Given the description of an element on the screen output the (x, y) to click on. 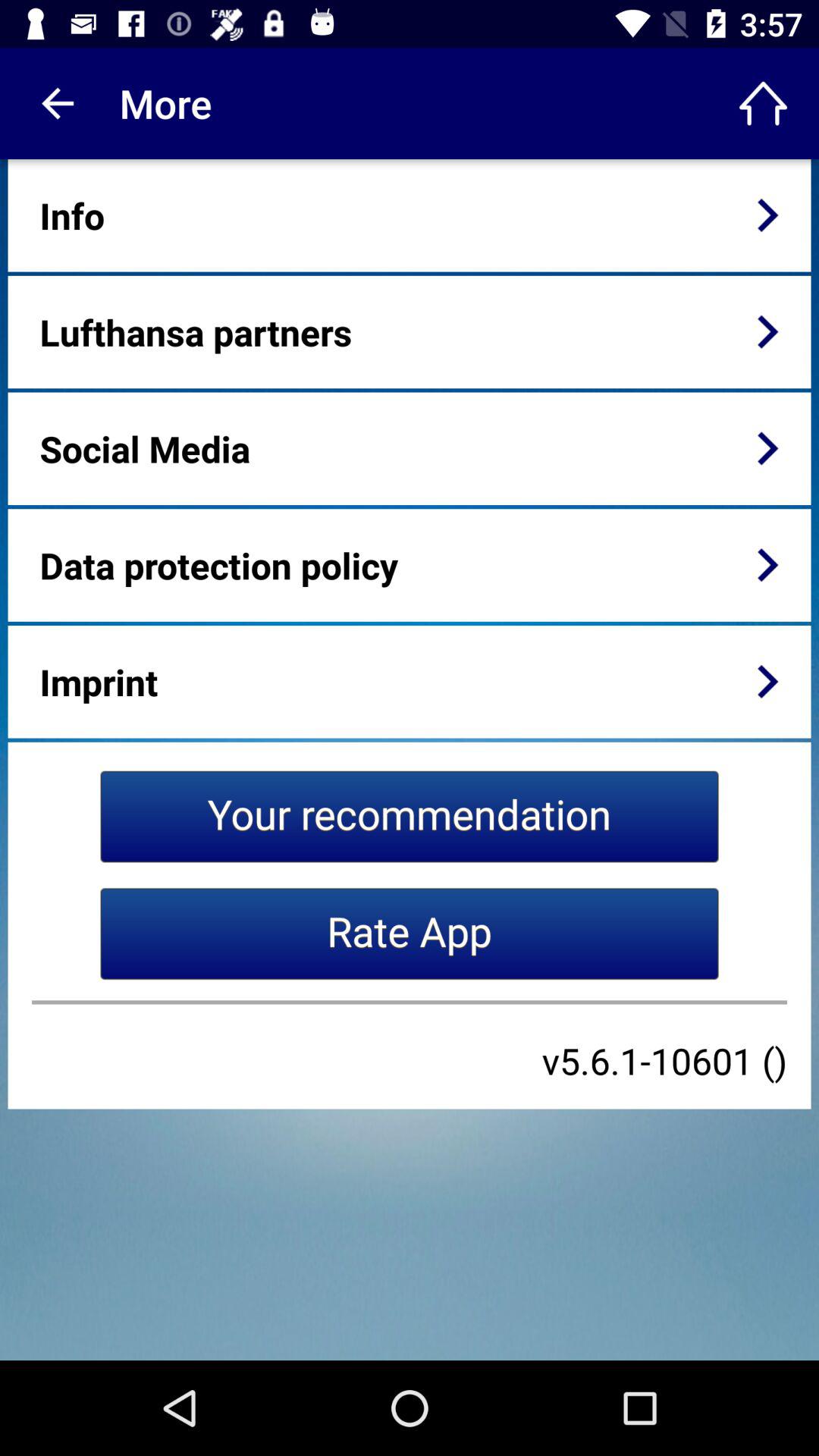
turn on social media icon (144, 448)
